Given the description of an element on the screen output the (x, y) to click on. 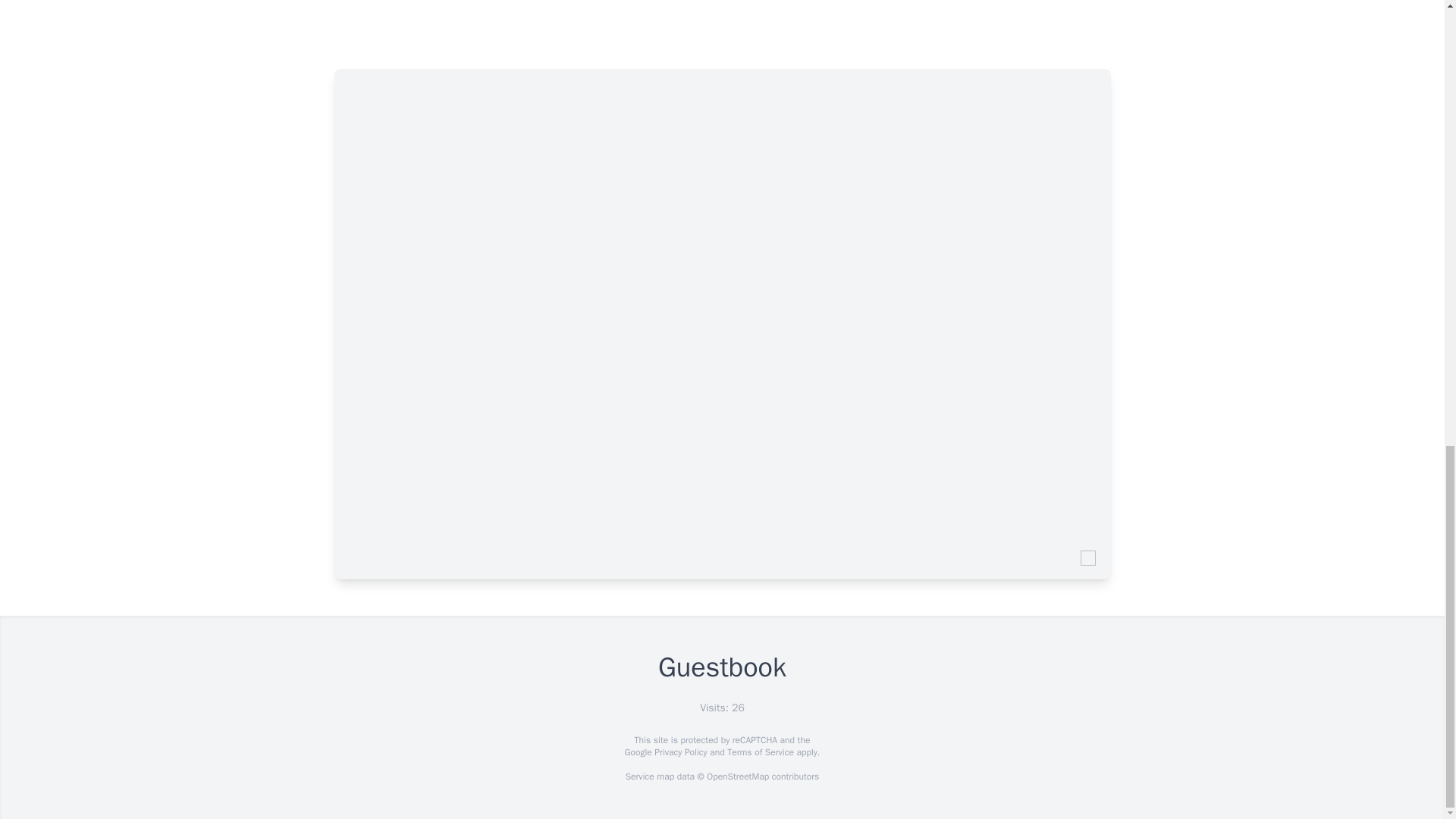
Terms of Service (759, 752)
Privacy Policy (679, 752)
OpenStreetMap (737, 776)
